Given the description of an element on the screen output the (x, y) to click on. 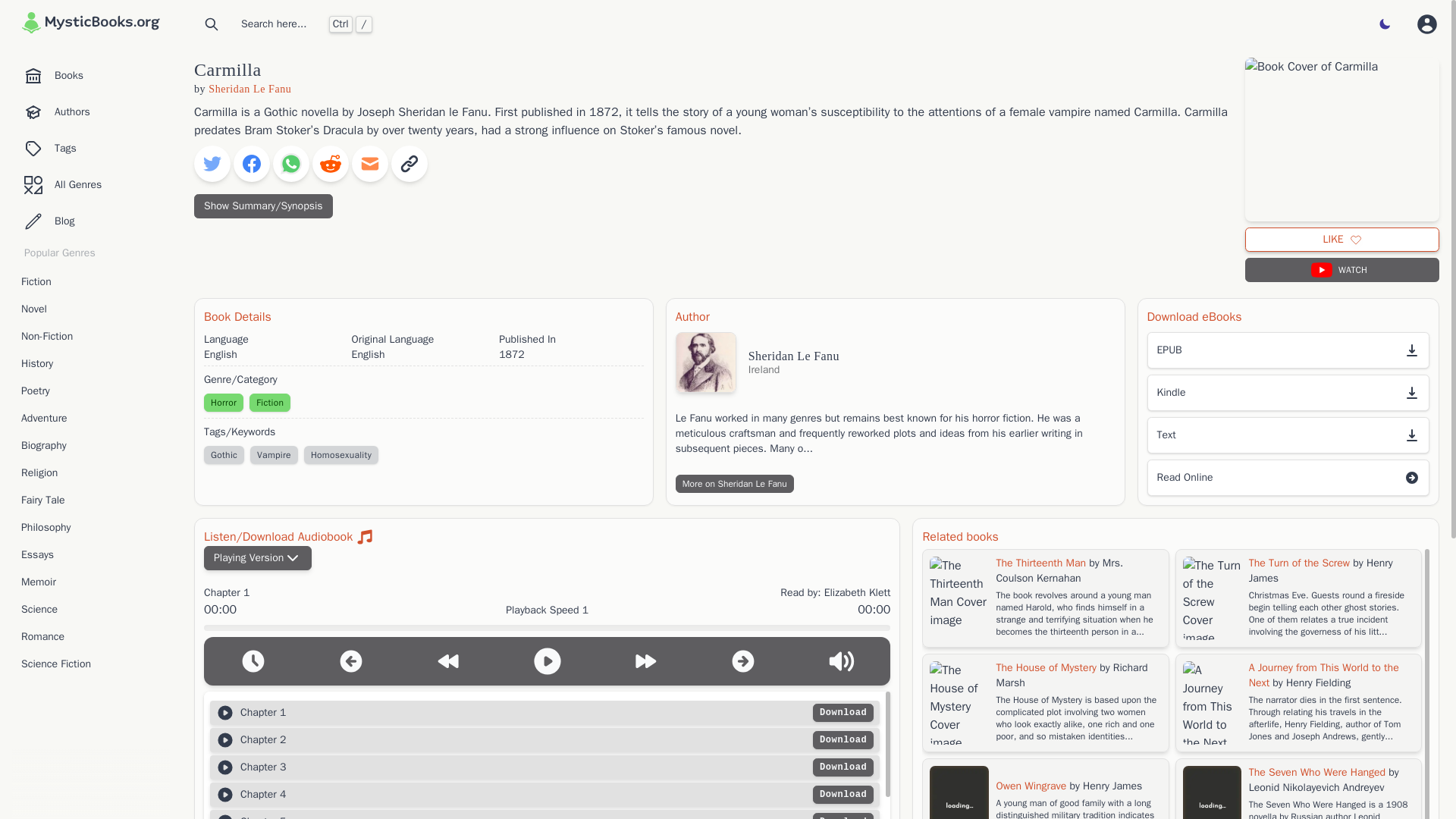
Memoir (90, 582)
Next audio (743, 660)
Books (90, 75)
All Genres (90, 184)
Download Chapter 1 (842, 712)
Horror (223, 402)
Previous Audio (351, 660)
Carmilla Read Online (1288, 477)
Sheridan Le Fanu (249, 89)
Fiction (90, 282)
